Given the description of an element on the screen output the (x, y) to click on. 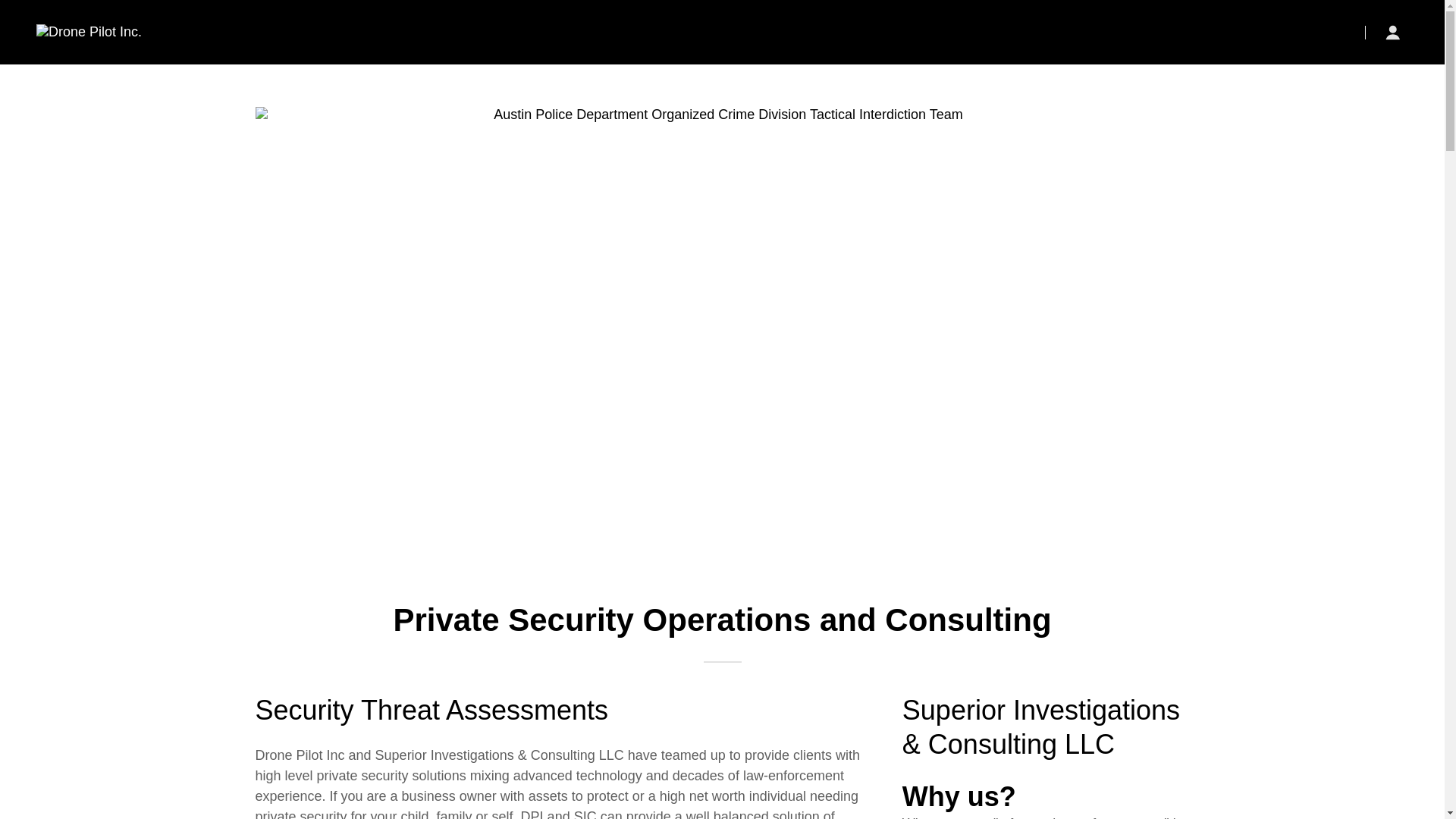
Drone Pilot Inc. (88, 31)
